Given the description of an element on the screen output the (x, y) to click on. 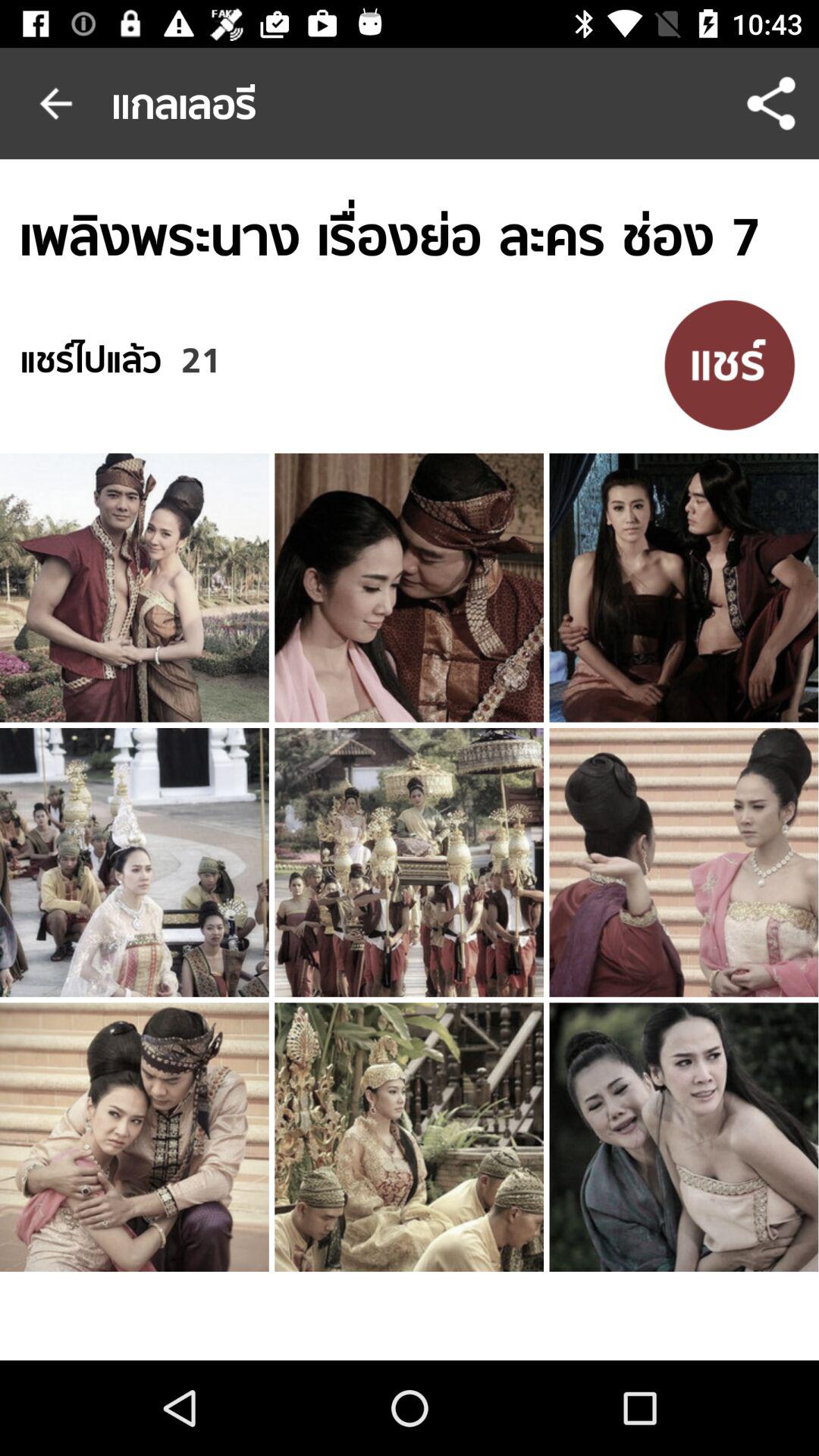
search (729, 363)
